Given the description of an element on the screen output the (x, y) to click on. 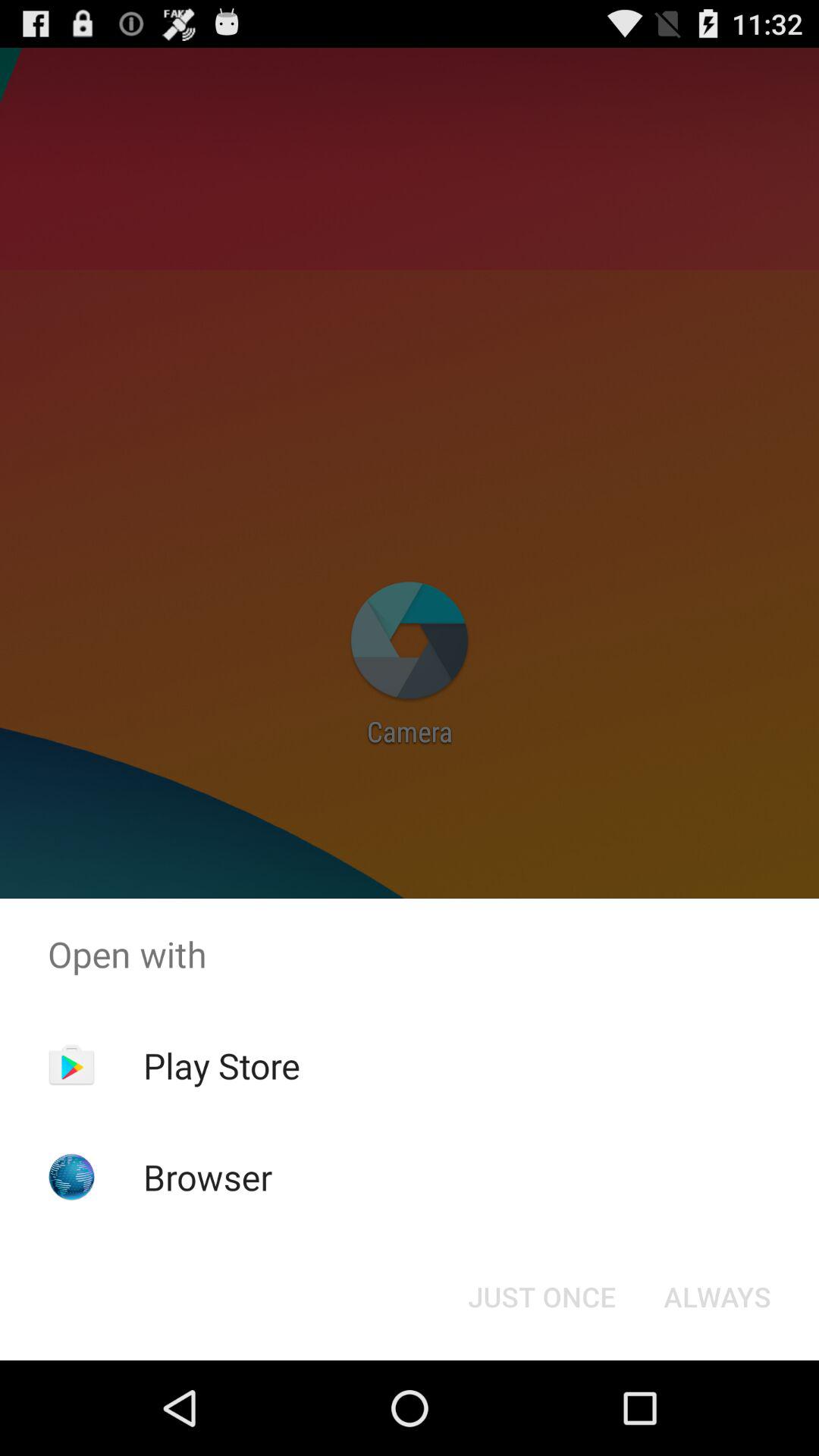
turn on the icon below the open with item (541, 1296)
